Given the description of an element on the screen output the (x, y) to click on. 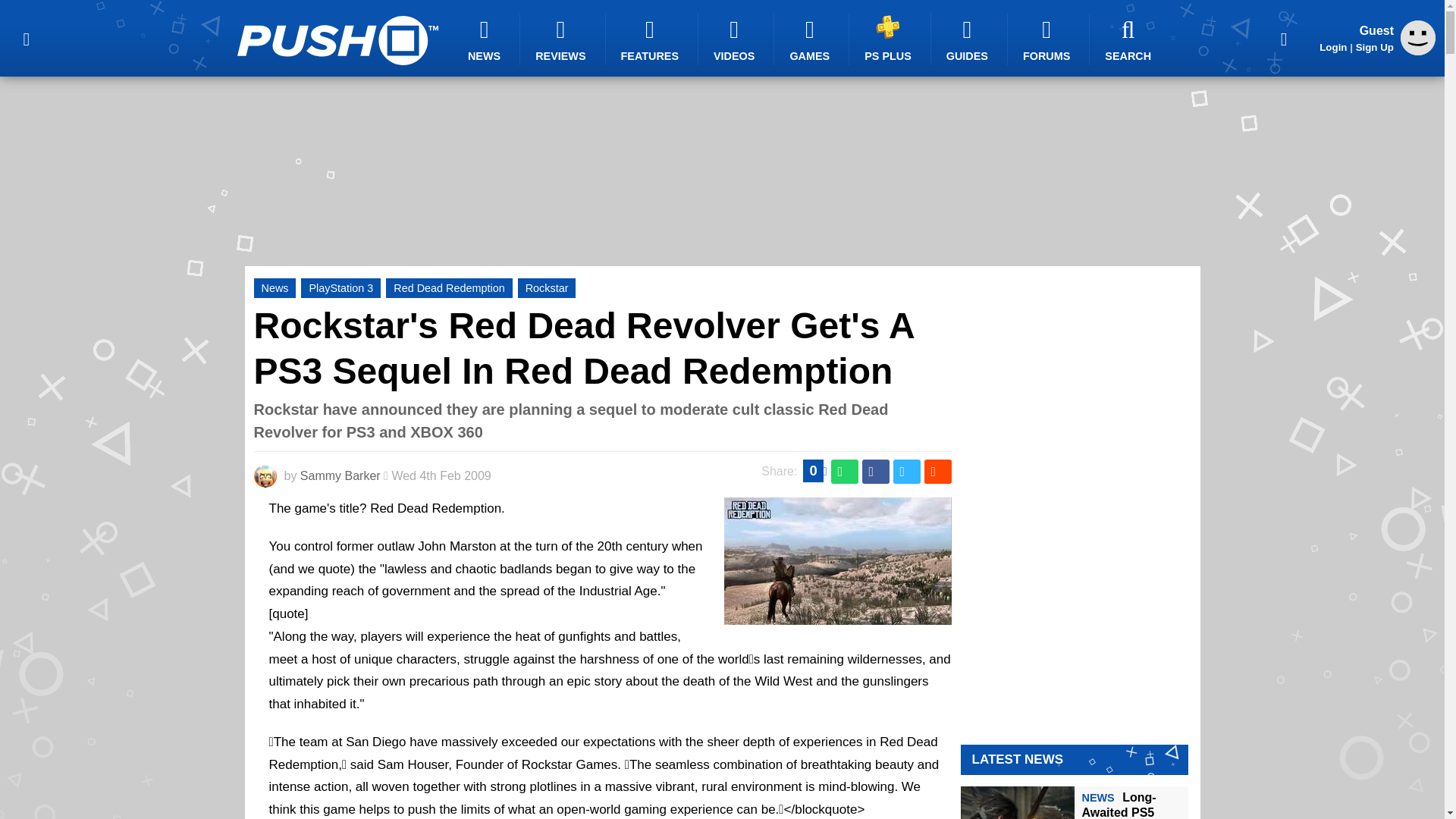
VIDEOS (736, 39)
PS PLUS (889, 38)
GUIDES (969, 39)
NEWS (485, 39)
SEARCH (1129, 39)
Sammy Barker (339, 475)
FEATURES (651, 39)
Push Square (336, 40)
Red Dead Redemption (448, 288)
Sign Up (1374, 47)
PlayStation 3 (340, 288)
Share this on WhatsApp (845, 471)
Share this on Twitter (906, 471)
